Given the description of an element on the screen output the (x, y) to click on. 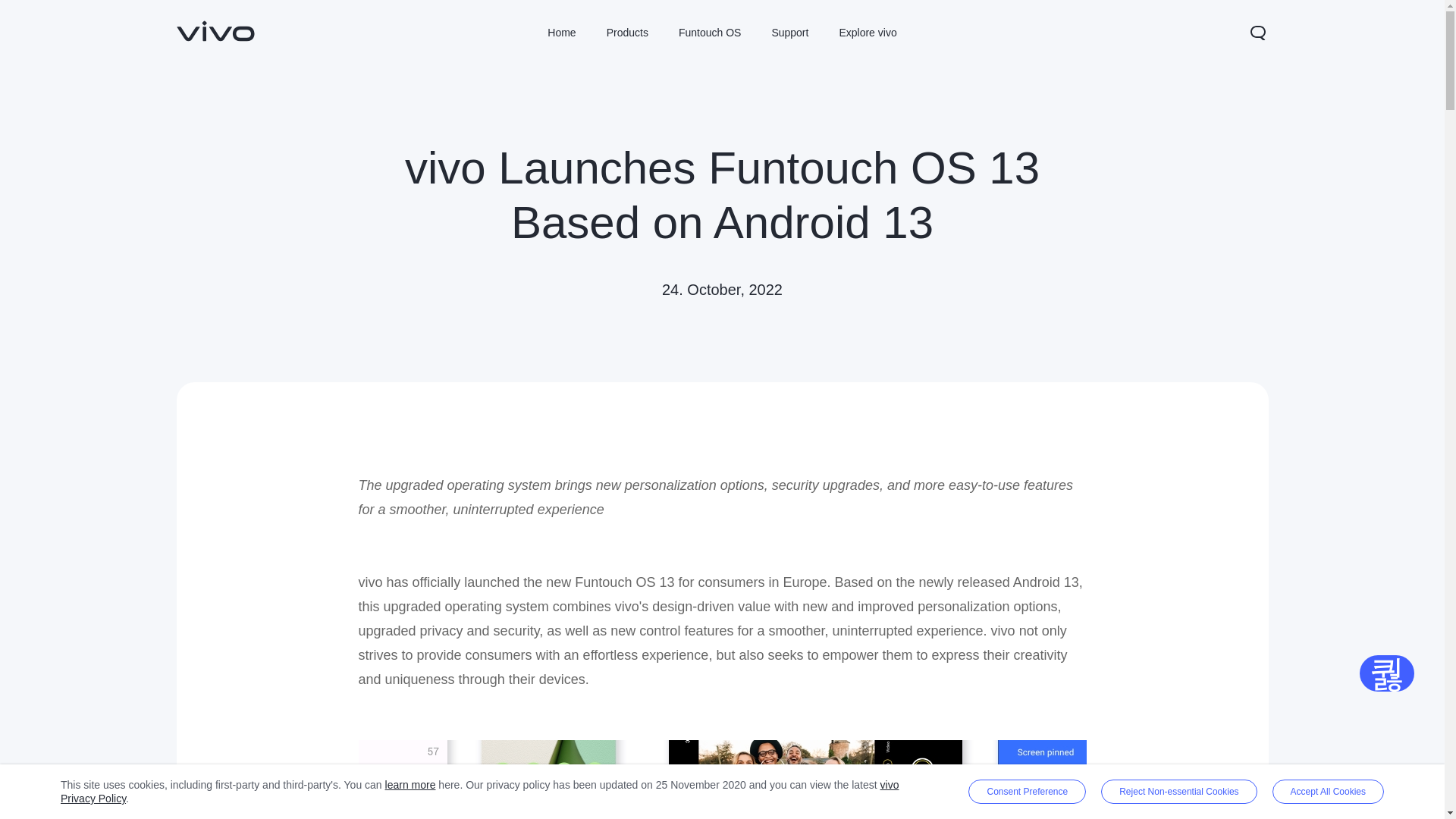
Home (561, 32)
Funtouch OS (710, 32)
Support (789, 32)
Products (627, 32)
Explore vivo (867, 32)
